Given the description of an element on the screen output the (x, y) to click on. 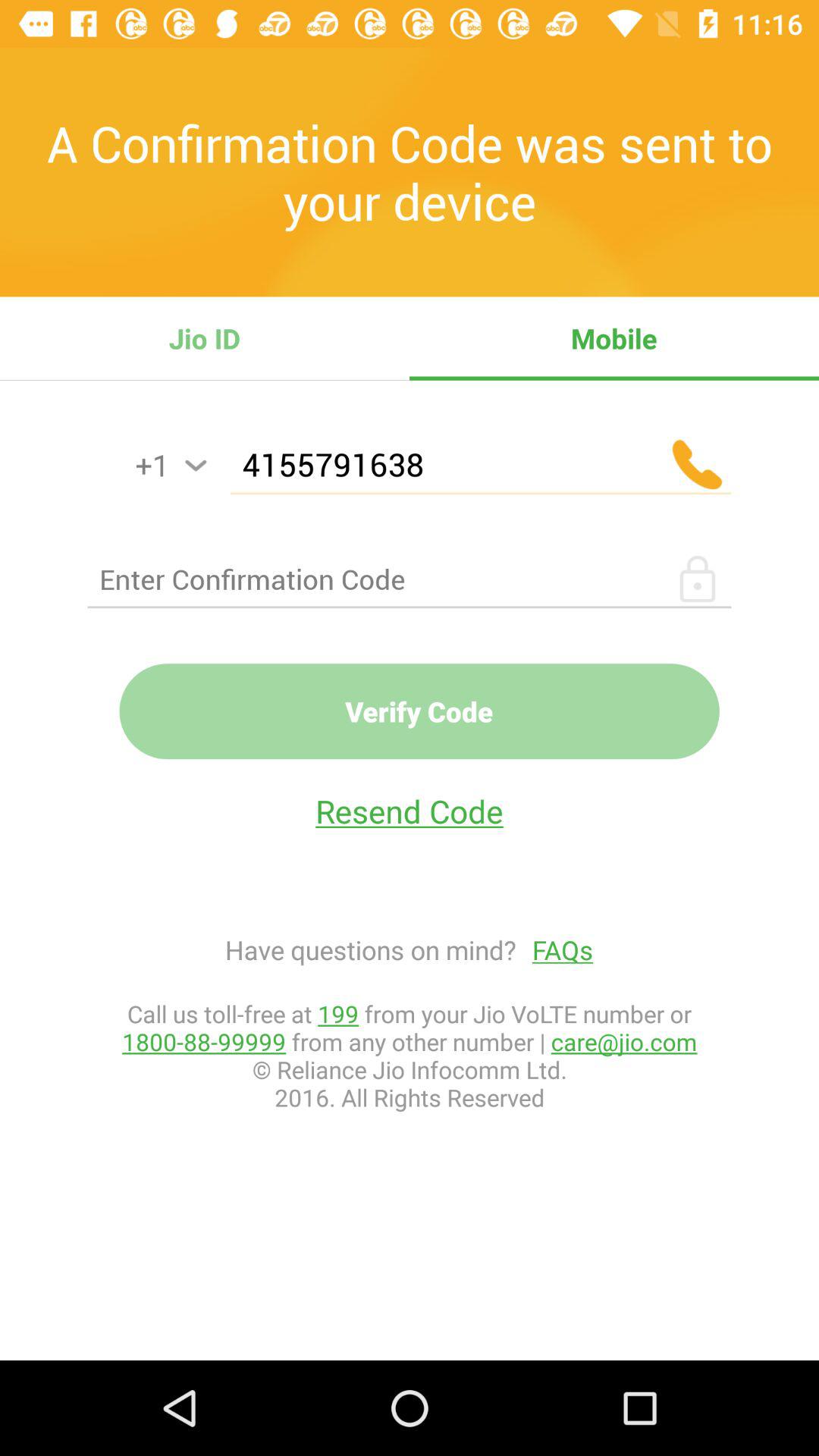
jump to the resend code item (409, 810)
